Given the description of an element on the screen output the (x, y) to click on. 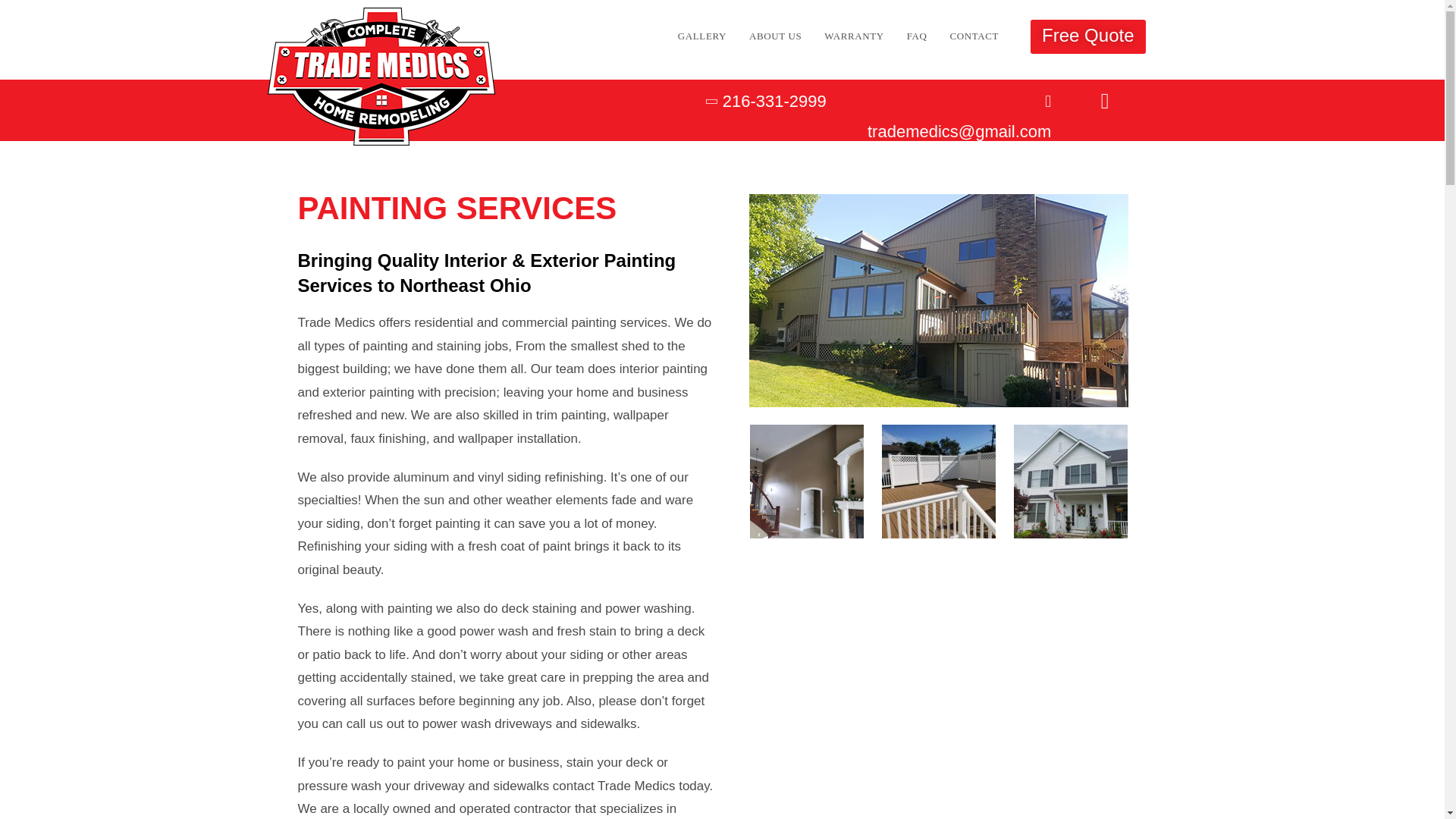
Free Quote (1088, 36)
SERVICES (623, 36)
WARRANTY (853, 36)
CONTACT (974, 36)
ABOUT US (775, 36)
GALLERY (702, 36)
